Given the description of an element on the screen output the (x, y) to click on. 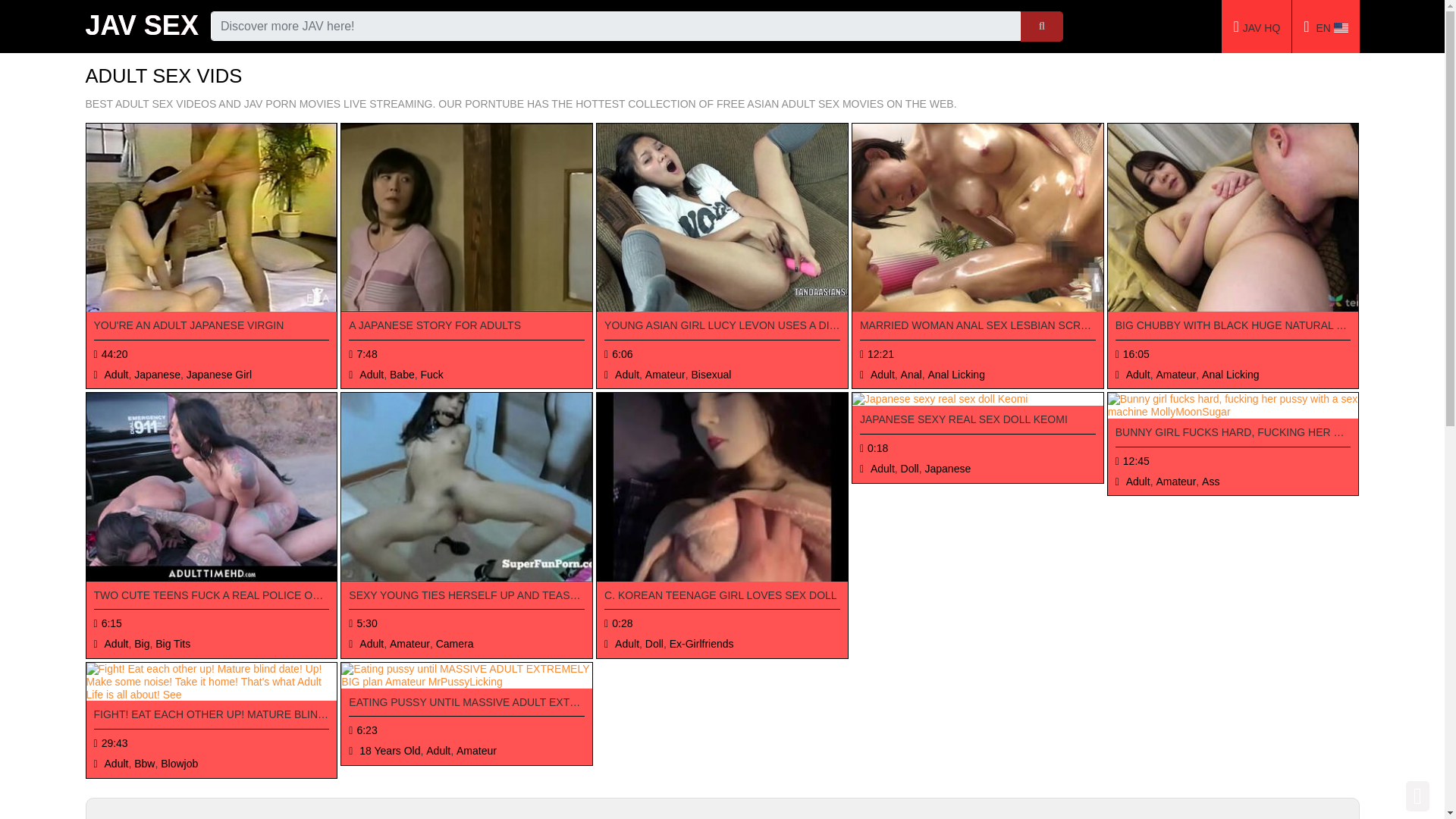
JAV SEX (141, 25)
big sex (211, 486)
ex-girlfriends porn (722, 599)
bisexual porn (722, 329)
babe sex (466, 217)
amateur sex (721, 217)
japanese sex (211, 217)
doll sex (721, 486)
Japanese girl porn (212, 329)
ass porn (1233, 436)
